Given the description of an element on the screen output the (x, y) to click on. 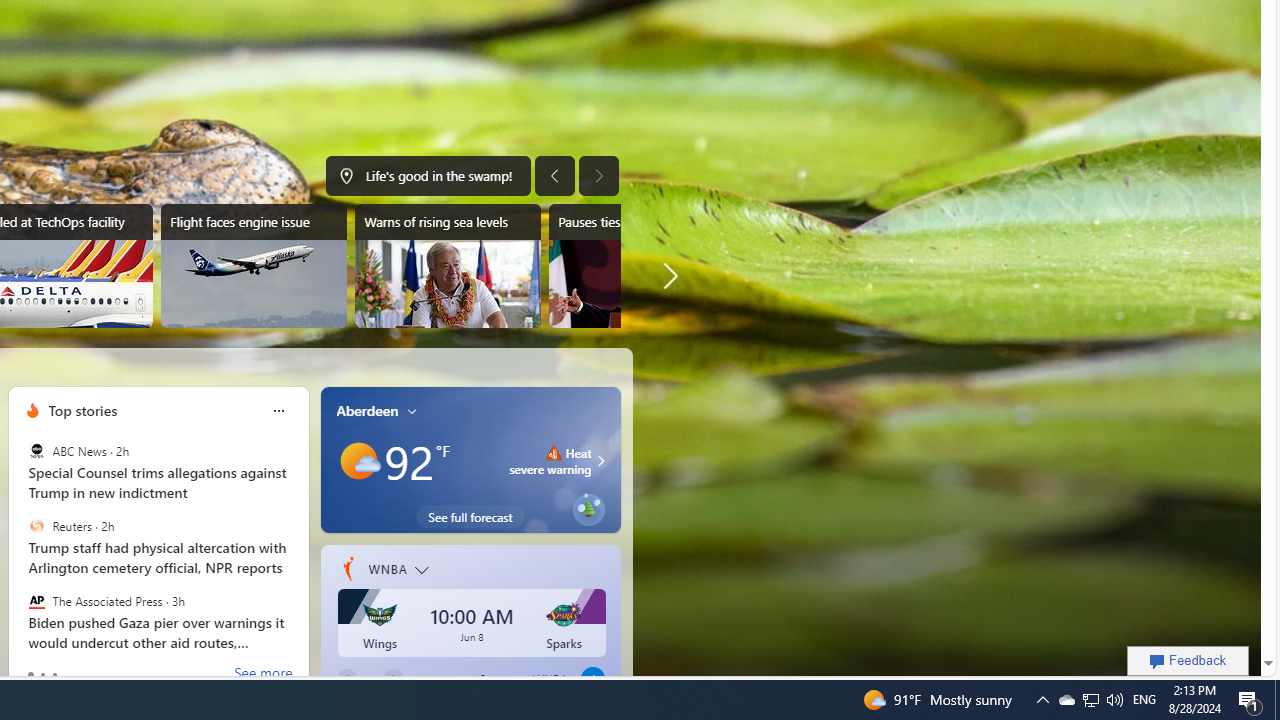
To get missing image descriptions, open the context menu. (32, 411)
Mostly sunny (358, 461)
Reuters (36, 525)
Next image (598, 175)
tab-2 (54, 674)
See full forecast (470, 516)
Top stories (82, 410)
Flight faces engine issue (253, 265)
The Associated Press (36, 600)
Heat - Severe (553, 452)
My location (411, 410)
Feedback (1187, 660)
Class: eplant-img (587, 506)
